Given the description of an element on the screen output the (x, y) to click on. 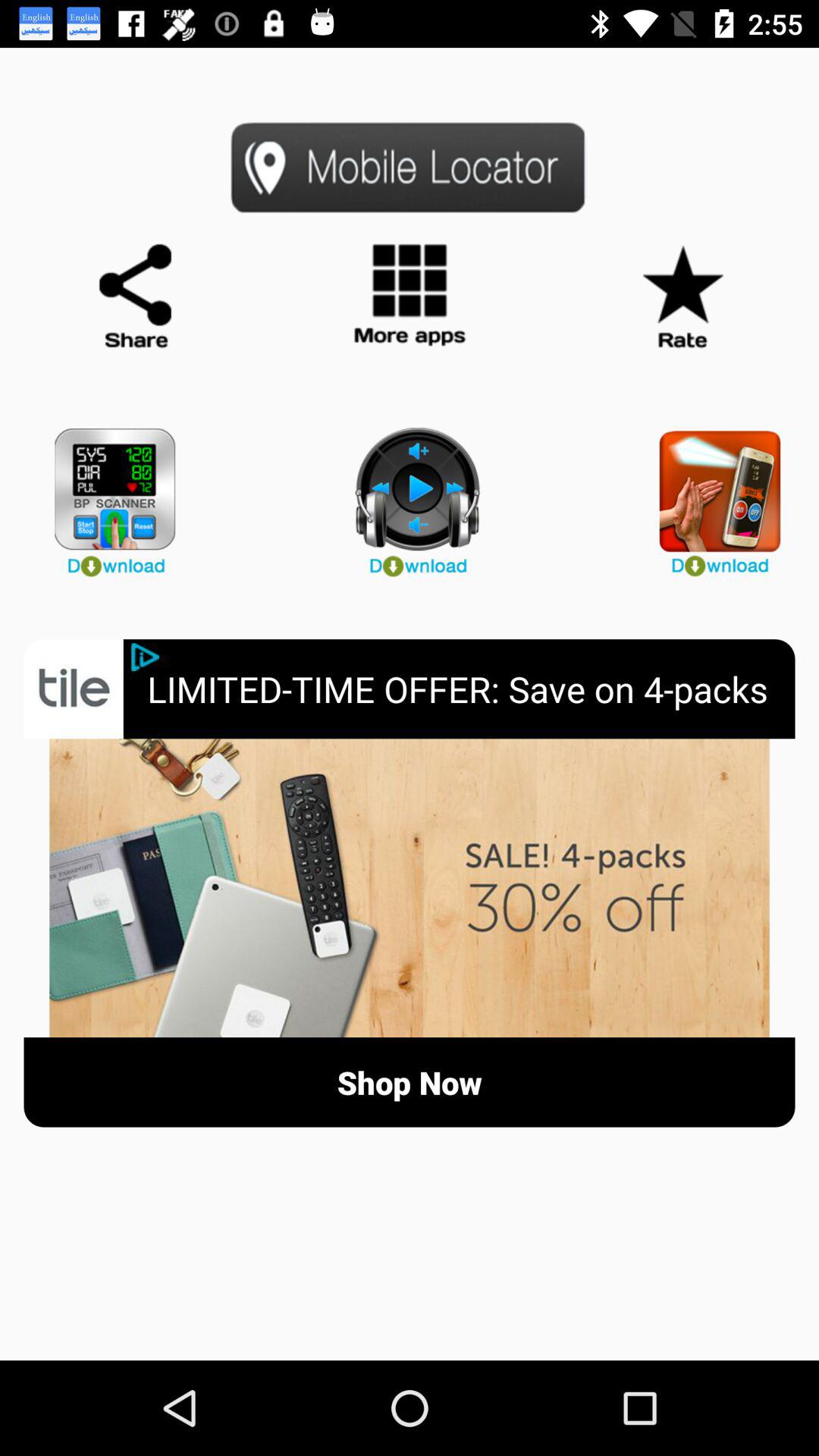
open the icon above limited time offer (409, 495)
